Given the description of an element on the screen output the (x, y) to click on. 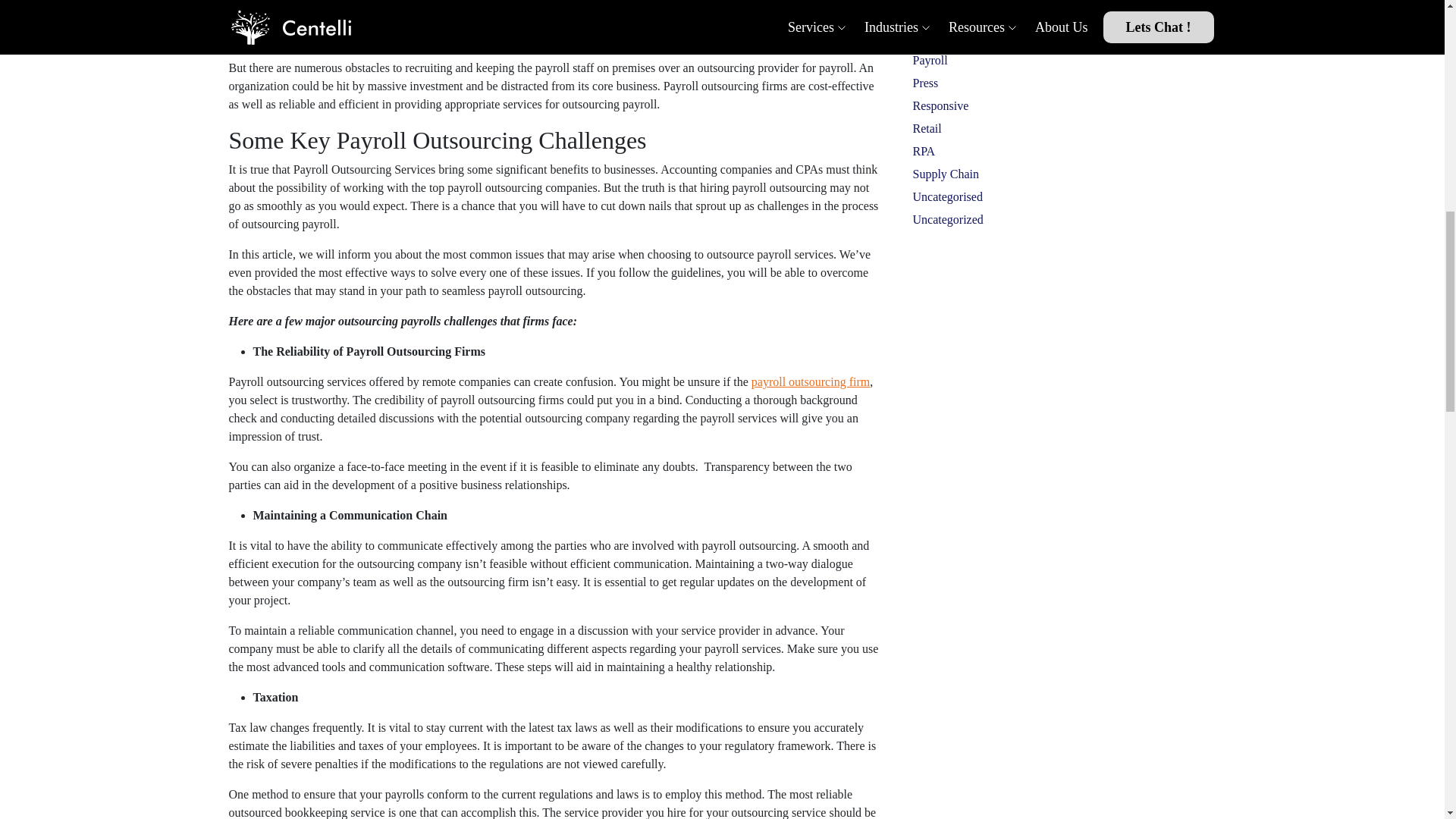
payroll outsourcing firm (810, 381)
